Given the description of an element on the screen output the (x, y) to click on. 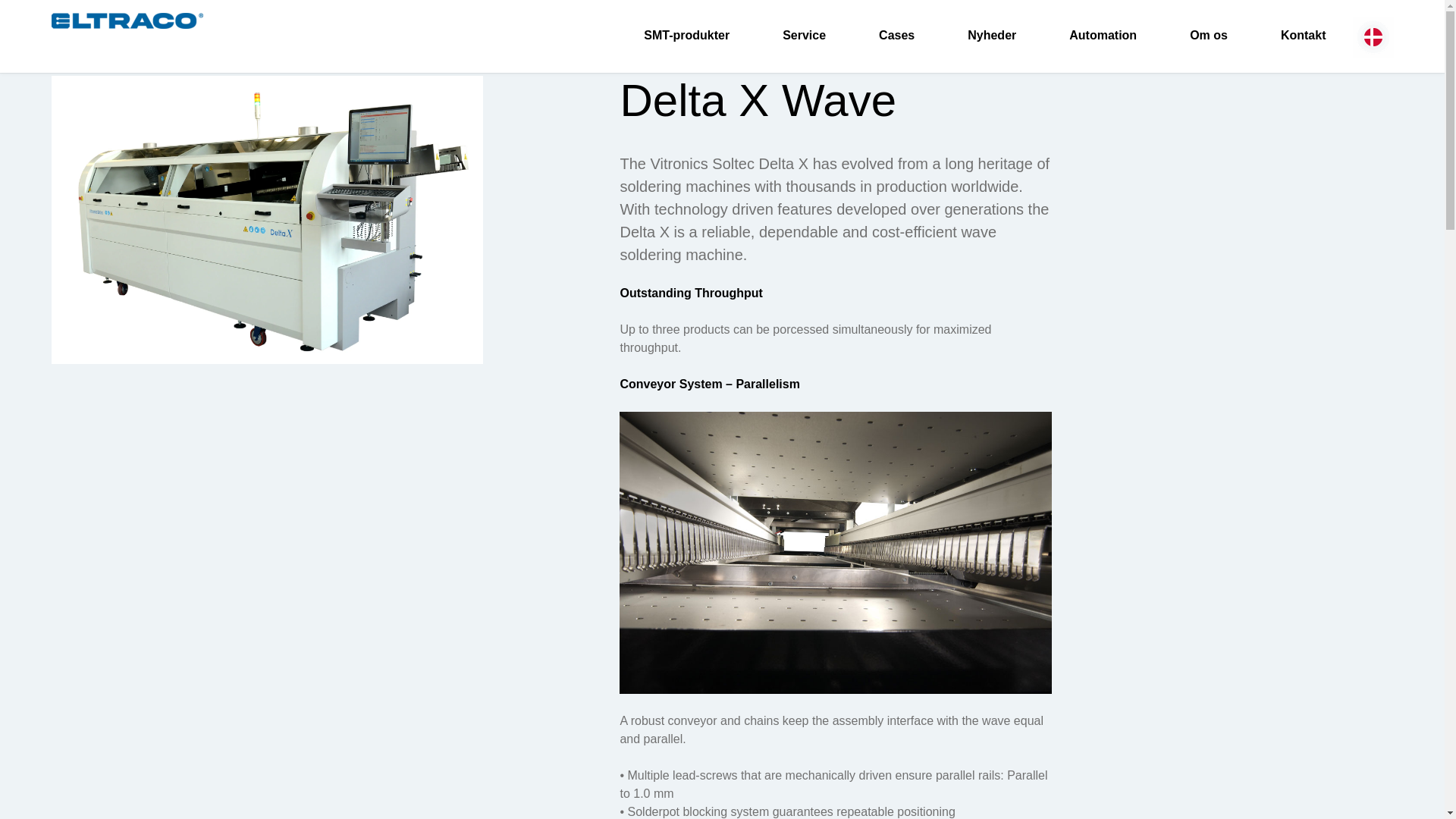
SMT-produkter (686, 35)
Cases (895, 35)
Nyheder (991, 35)
Automation (1102, 35)
Service (803, 35)
Kontakt (1302, 35)
Om os (1208, 35)
